Given the description of an element on the screen output the (x, y) to click on. 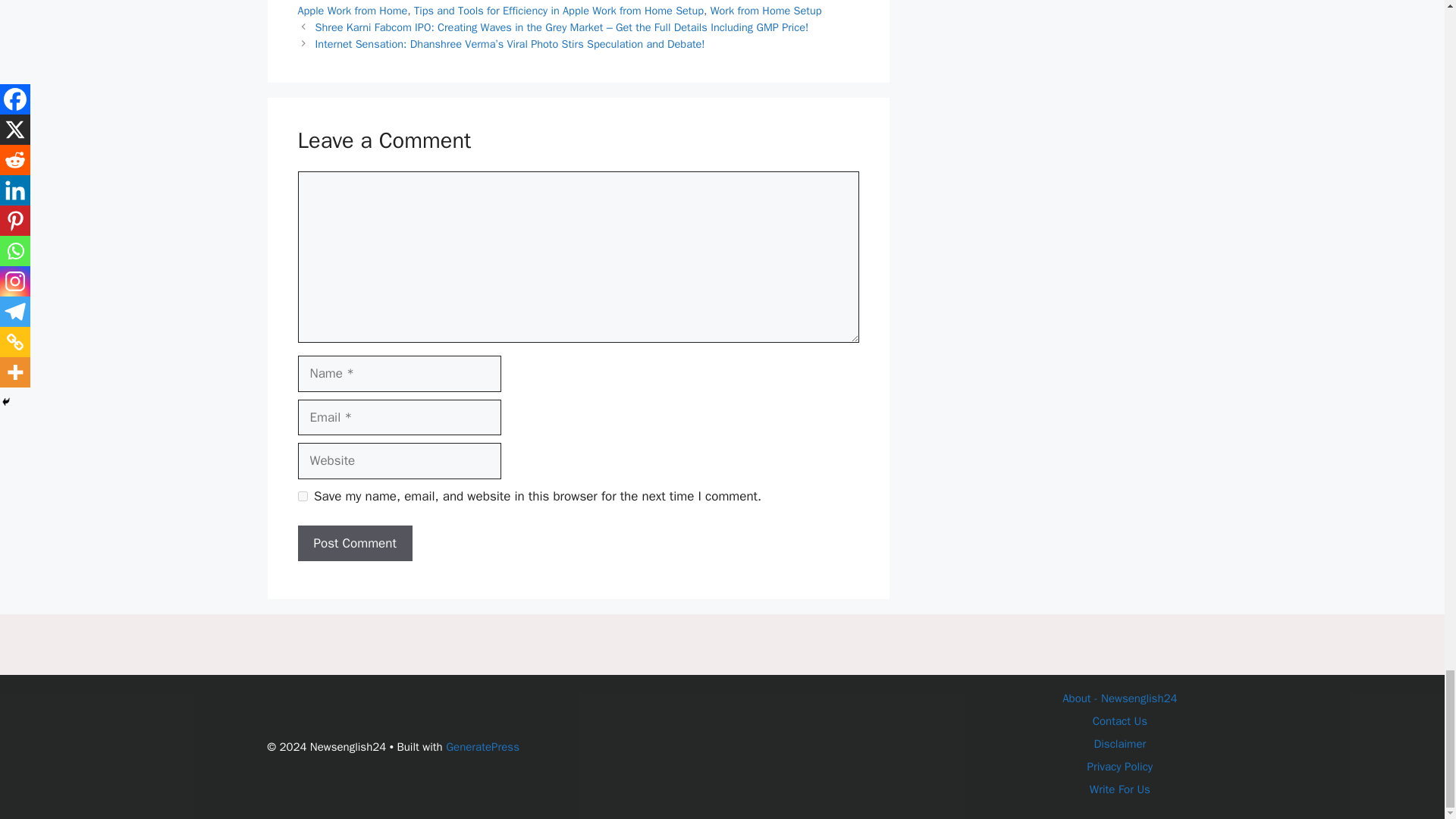
Post Comment (354, 543)
Tips and Tools for Efficiency in Apple Work from Home (570, 8)
Post Comment (354, 543)
Tips and Tools for Efficiency in Apple Work from Home Setup (558, 10)
Work from Home Setup (766, 10)
yes (302, 496)
